Given the description of an element on the screen output the (x, y) to click on. 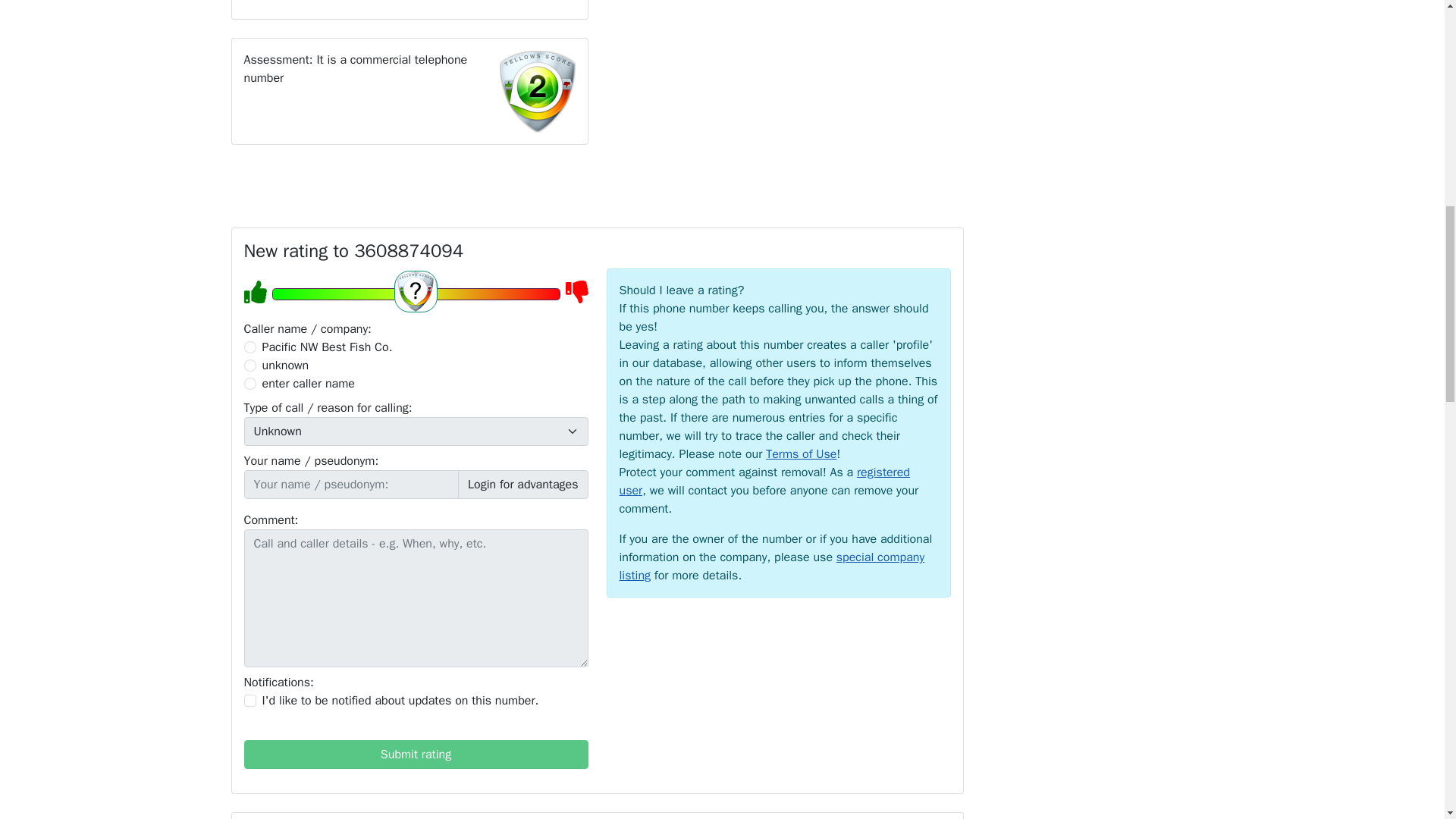
Terms of Use (800, 453)
0 (250, 346)
Submit rating (416, 754)
special company listing (771, 566)
3 (250, 383)
Submit rating (416, 754)
registered user (763, 481)
2 (250, 365)
5 (414, 294)
